Given the description of an element on the screen output the (x, y) to click on. 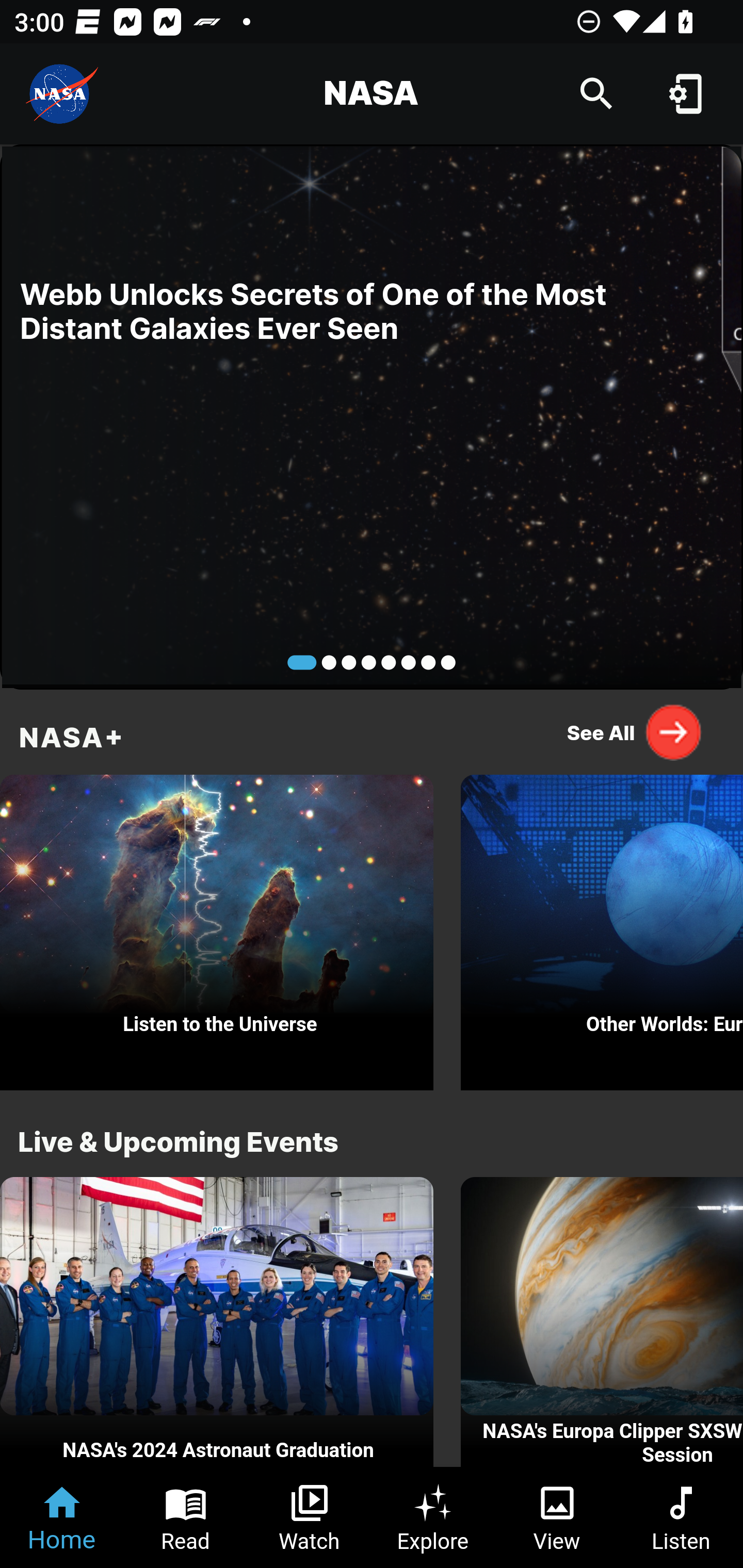
See All (634, 732)
Listen to the Universe (216, 927)
Other Worlds: Europa (601, 927)
NASA's 2024 Astronaut Graduation (216, 1322)
NASA's Europa Clipper SXSW 2024 Opening Session (601, 1322)
Home
Tab 1 of 6 (62, 1517)
Read
Tab 2 of 6 (185, 1517)
Watch
Tab 3 of 6 (309, 1517)
Explore
Tab 4 of 6 (433, 1517)
View
Tab 5 of 6 (556, 1517)
Listen
Tab 6 of 6 (680, 1517)
